Given the description of an element on the screen output the (x, y) to click on. 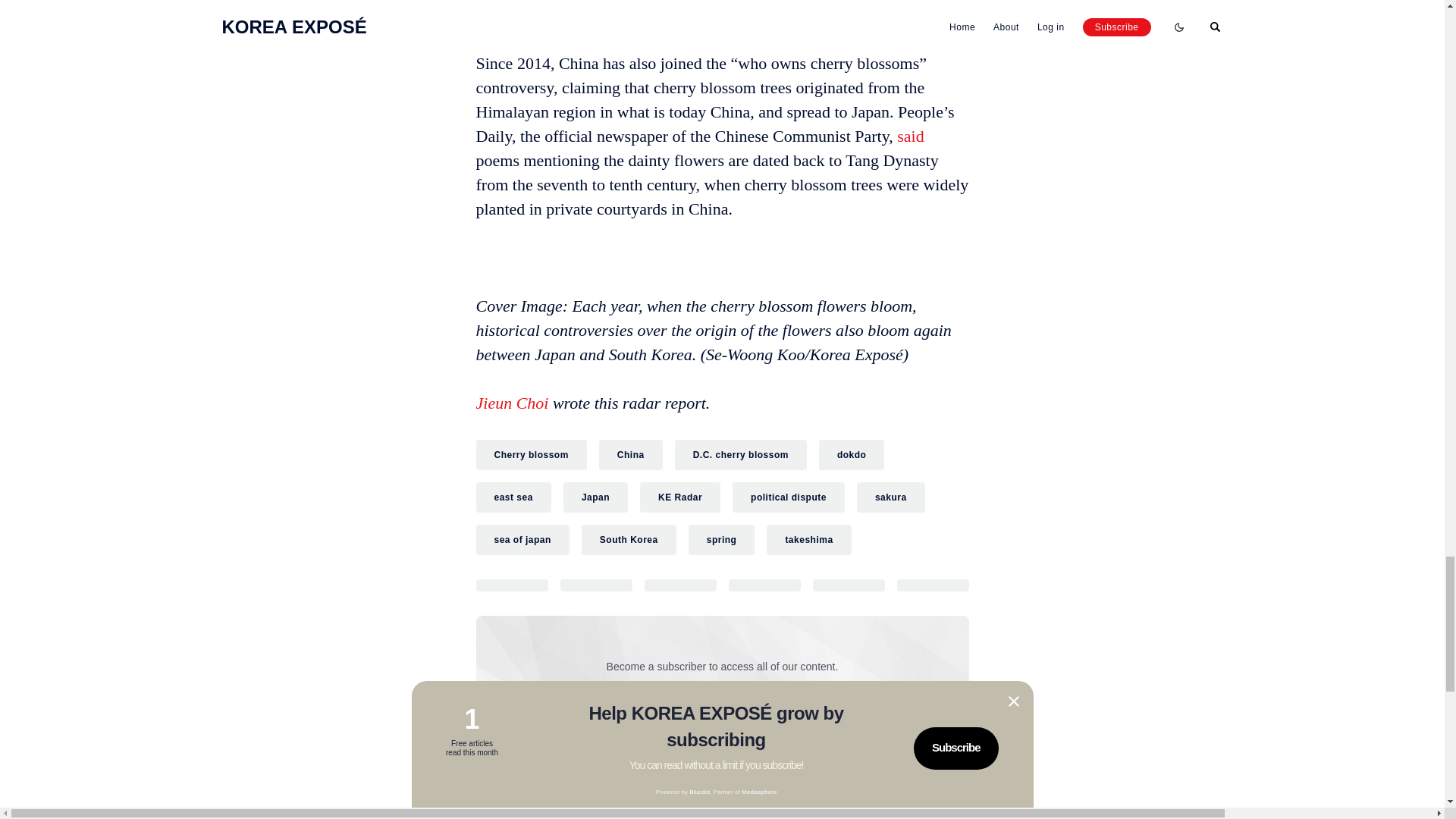
China (630, 454)
Japan (595, 497)
sakura (890, 497)
JTBC News (605, 17)
takeshima (808, 539)
spring (721, 539)
Share on Twitter (512, 585)
Subscribe (822, 720)
said (909, 135)
Share via Email (848, 585)
